Given the description of an element on the screen output the (x, y) to click on. 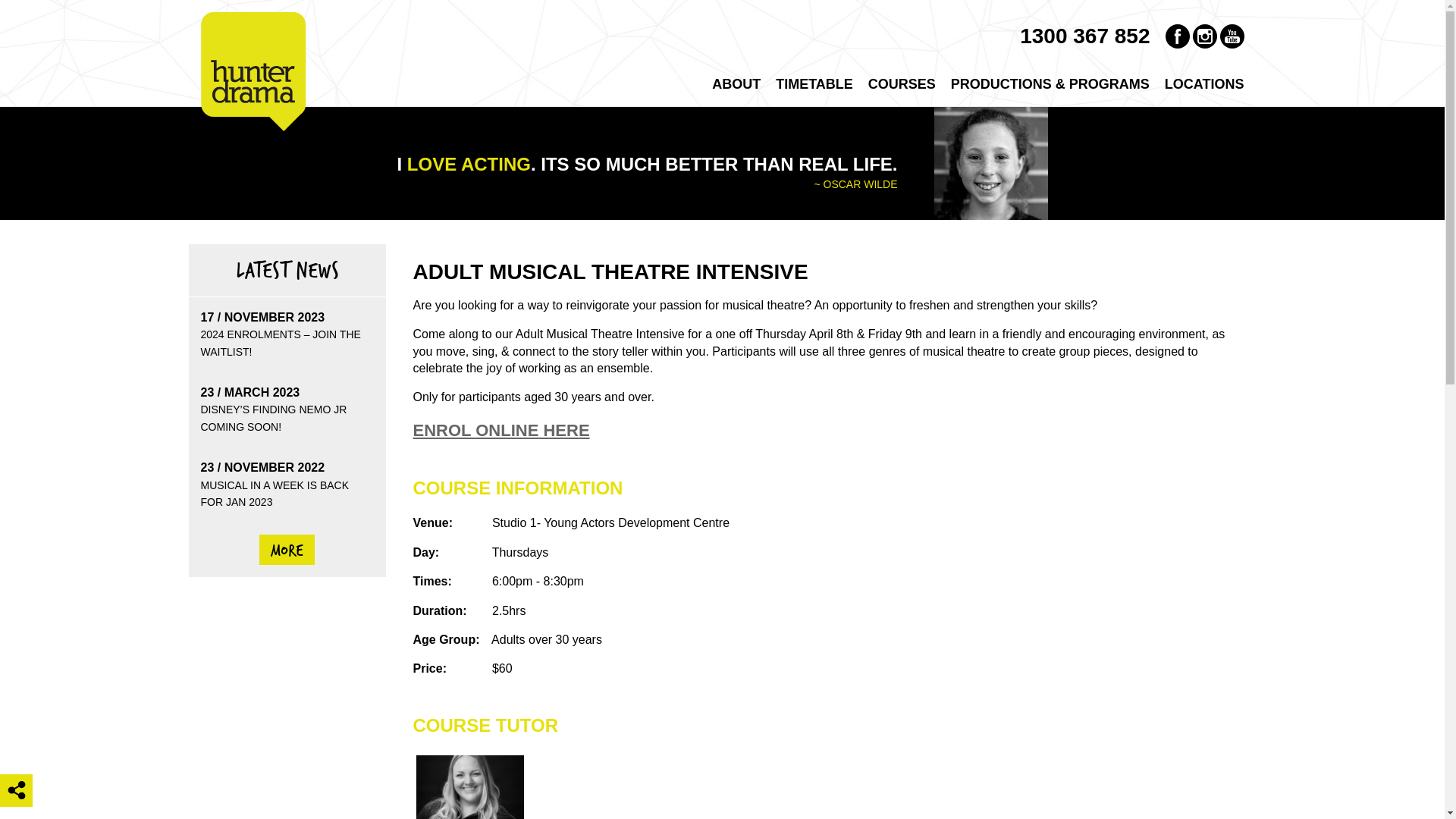
LOCATIONS Element type: text (1204, 84)
ABOUT Element type: text (736, 84)
MUSICAL IN A WEEK Element type: text (1084, 109)
OUR TEAM Element type: text (815, 113)
PRODUCTIONS & PROGRAMS Element type: text (1050, 84)
MUSICAL THEATRE Element type: text (1011, 109)
23 / NOVEMBER 2022
MUSICAL IN A WEEK IS BACK FOR JAN 2023 Element type: text (286, 484)
COURSES Element type: text (901, 84)
DRAMA Element type: text (1011, 113)
CURRENT PRODUCTIONS Element type: text (1084, 113)
BECOME A SUPPORTER Element type: text (815, 109)
ENROL ONLINE HERE Element type: text (500, 429)
TIMETABLE Element type: text (814, 84)
MORE Element type: text (286, 549)
